Given the description of an element on the screen output the (x, y) to click on. 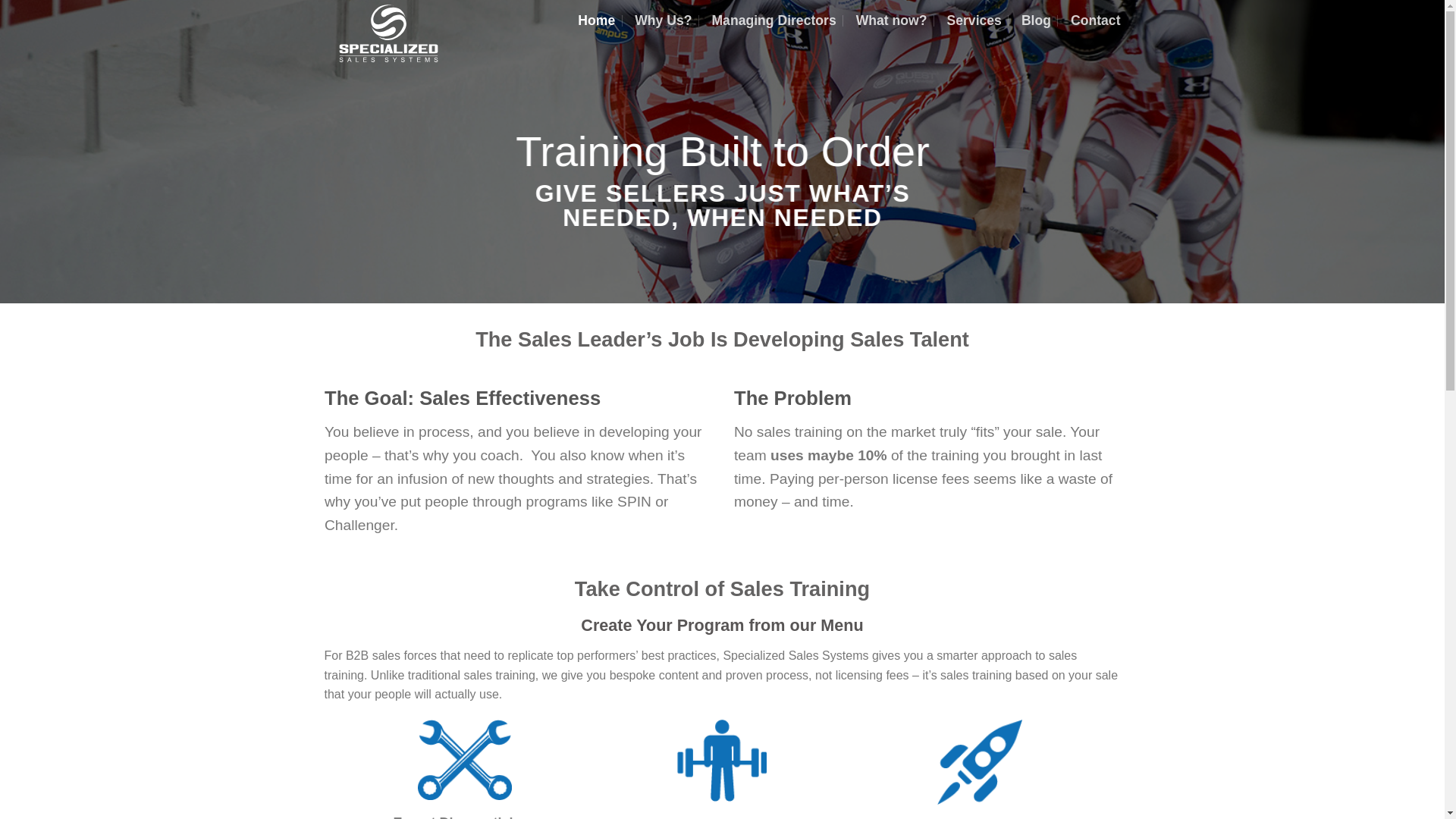
Services (973, 20)
Contact (1095, 20)
Managing Directors (773, 20)
Home (596, 20)
Why Us? (662, 20)
What now? (891, 20)
